Given the description of an element on the screen output the (x, y) to click on. 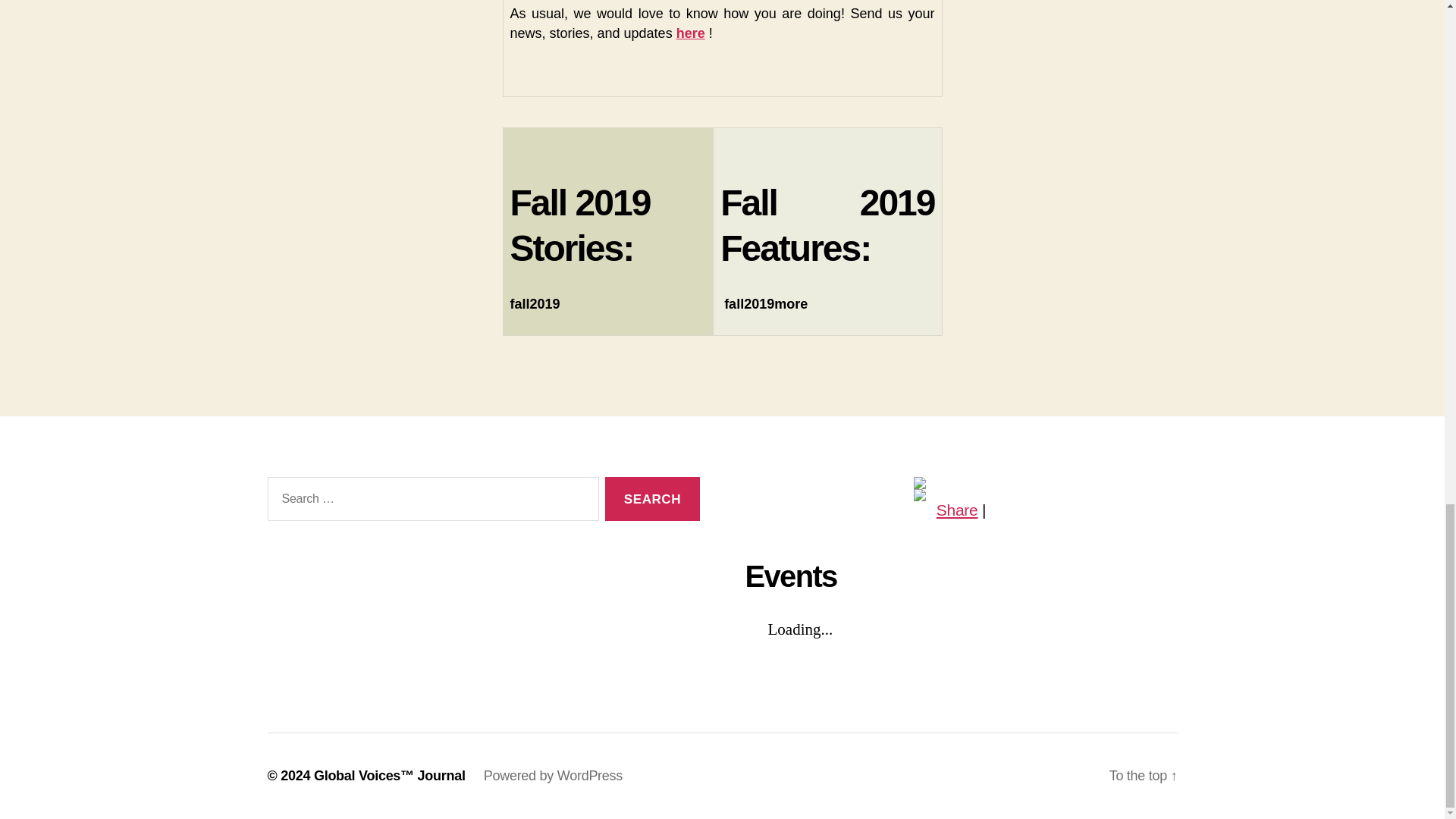
Search (651, 498)
Search (651, 498)
